Given the description of an element on the screen output the (x, y) to click on. 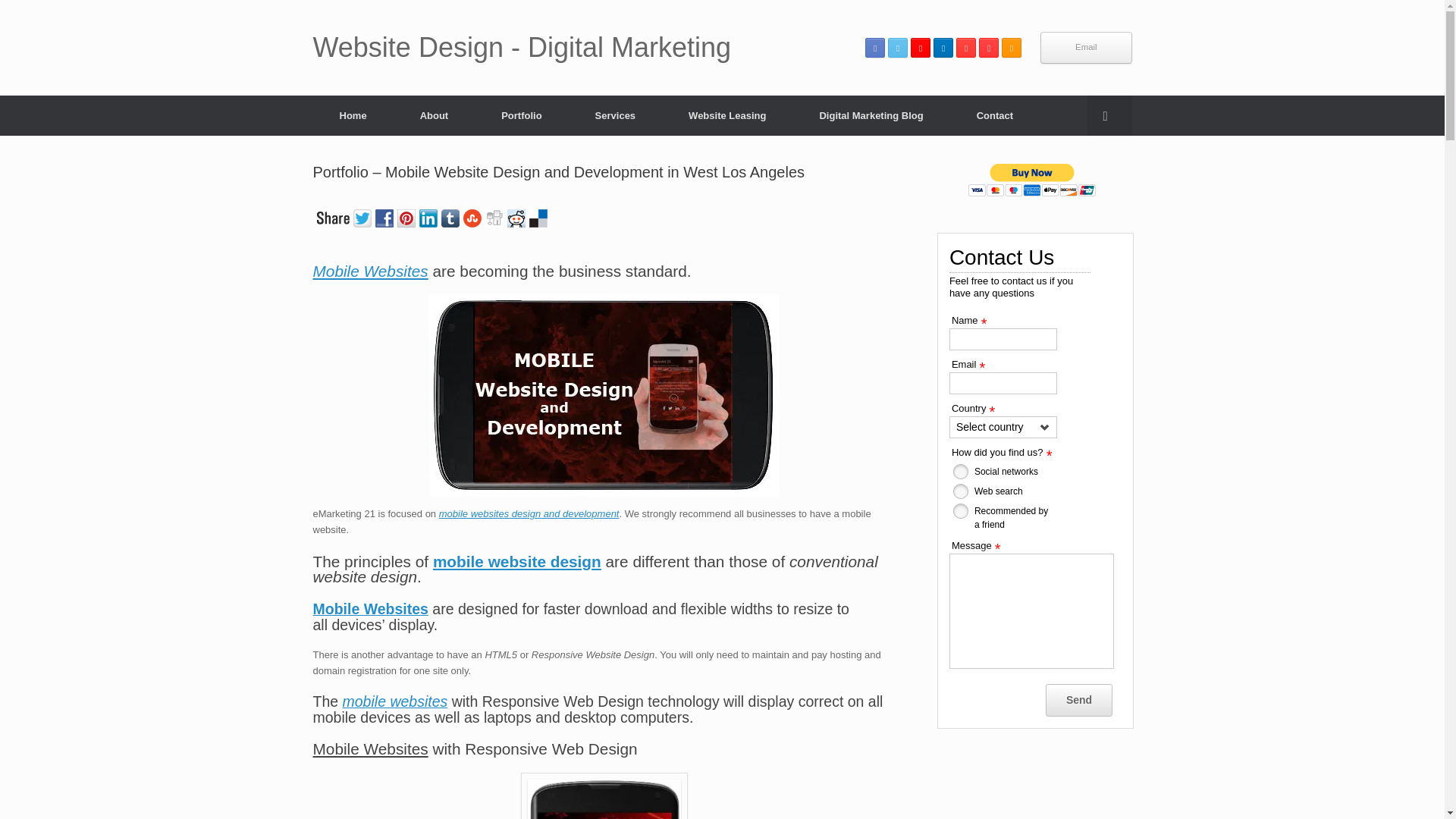
Website Design - Digital Marketing Pinterest (965, 47)
Website Design - Digital Marketing (521, 47)
Website Design - Digital Marketing LinkedIn (943, 47)
Website Design - Digital Marketing Facebook (874, 47)
Home (353, 115)
Email (1086, 47)
Services (615, 115)
Website Design - Digital Marketing YouTube (988, 47)
Digital Marketing Blog (870, 115)
Website Leasing (727, 115)
Send (1078, 699)
Website Design - Digital Marketing Twitter (897, 47)
Contact (994, 115)
Portfolio (520, 115)
